Given the description of an element on the screen output the (x, y) to click on. 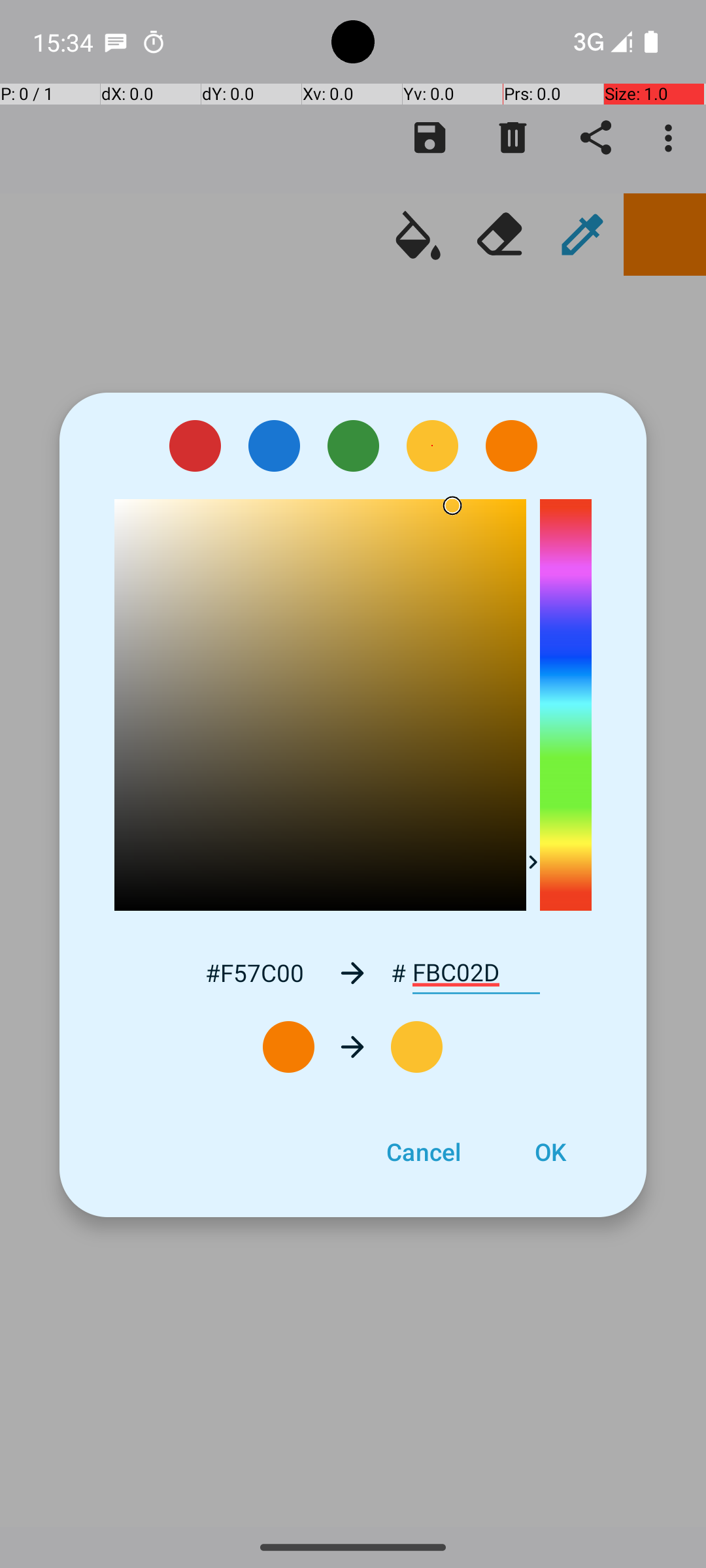
FBC02D Element type: android.widget.EditText (475, 972)
